Given the description of an element on the screen output the (x, y) to click on. 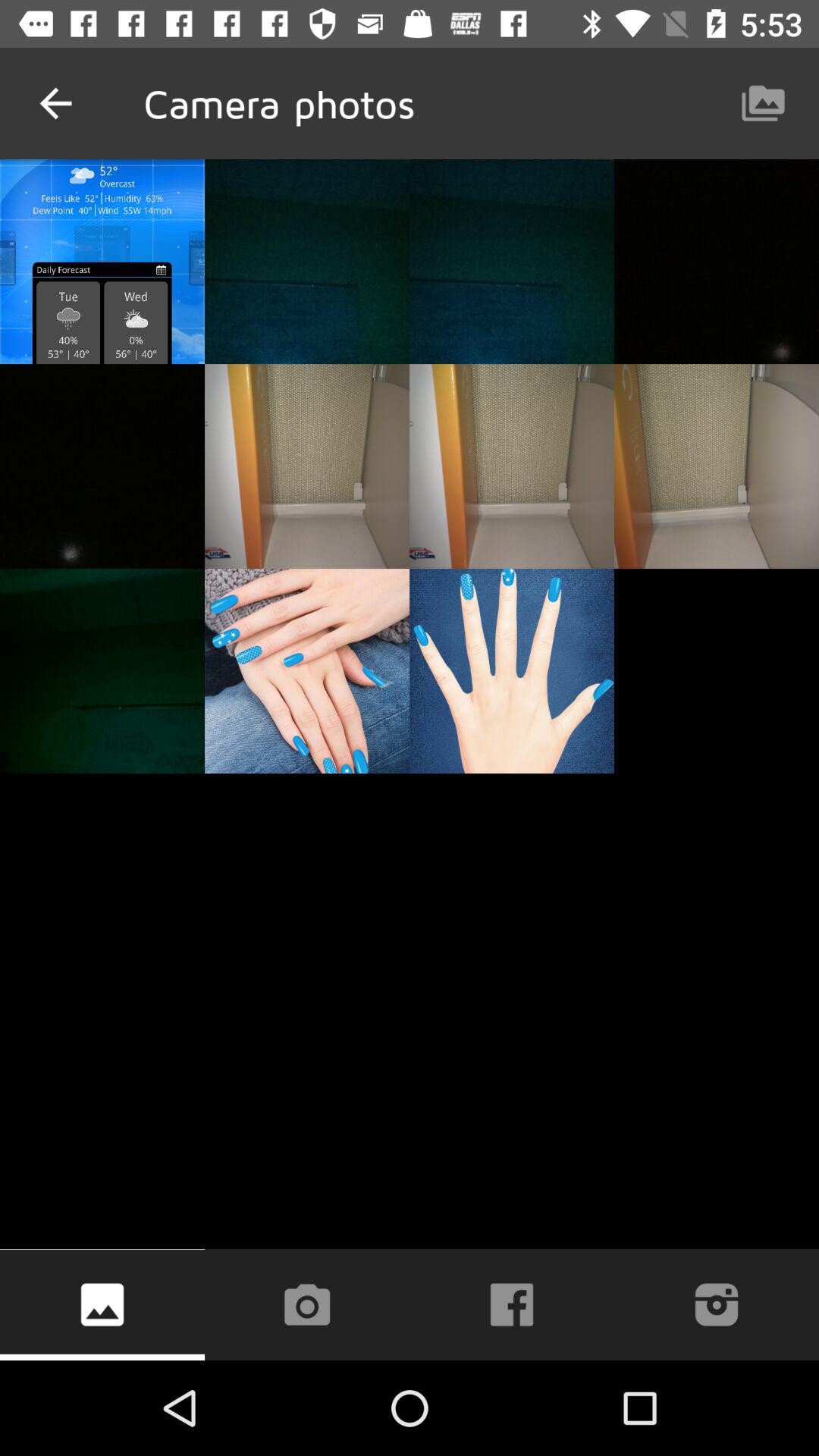
open the item next to the camera photos (55, 103)
